Given the description of an element on the screen output the (x, y) to click on. 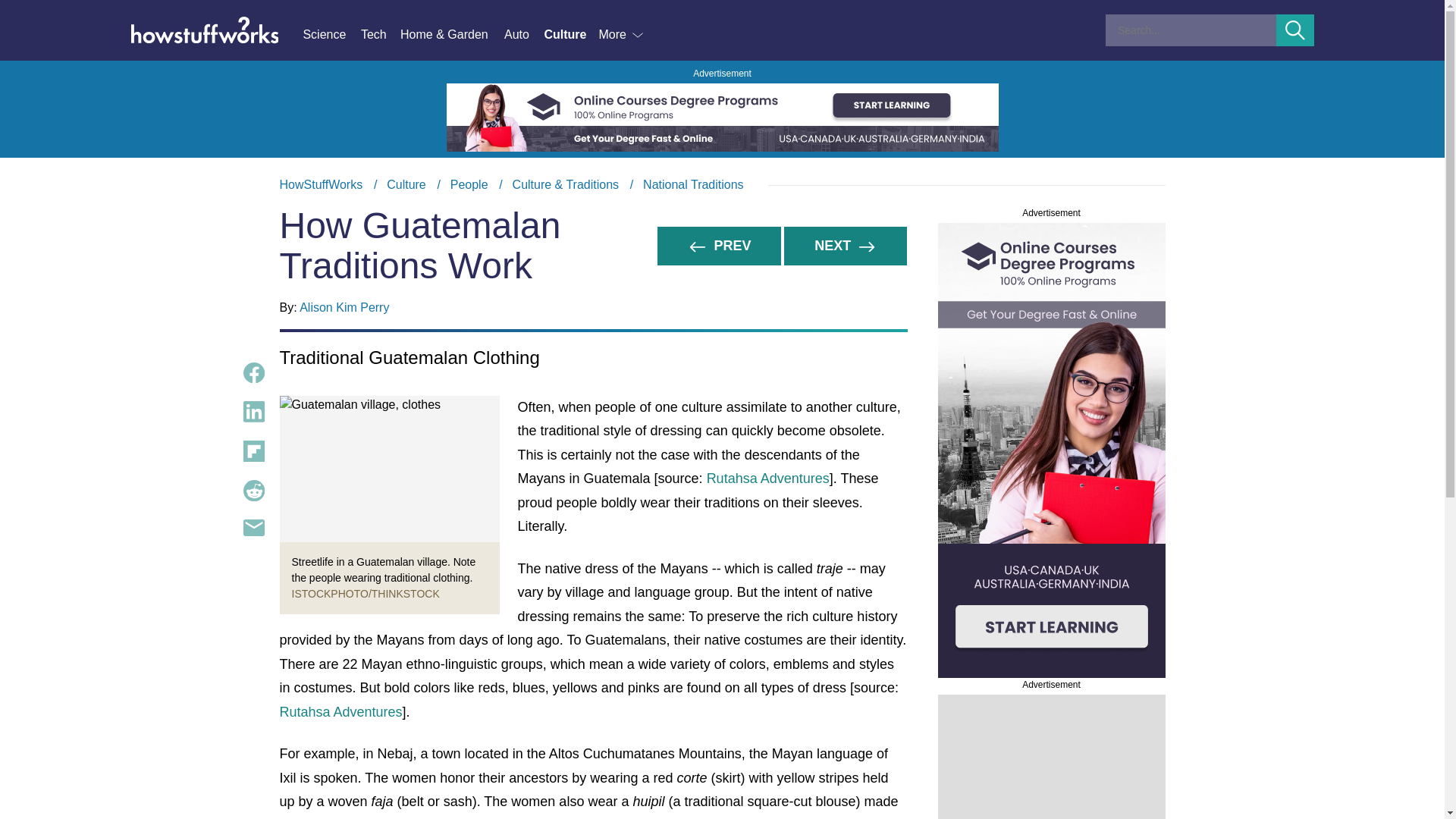
Submit Search (1295, 29)
Culture (570, 34)
Share Content on Flipboard (253, 450)
Culture (406, 184)
Share Content on LinkedIn (253, 411)
Share Content on Reddit (253, 490)
Tech (380, 34)
Science (330, 34)
HowStuffWorks (320, 184)
Auto (523, 34)
